Given the description of an element on the screen output the (x, y) to click on. 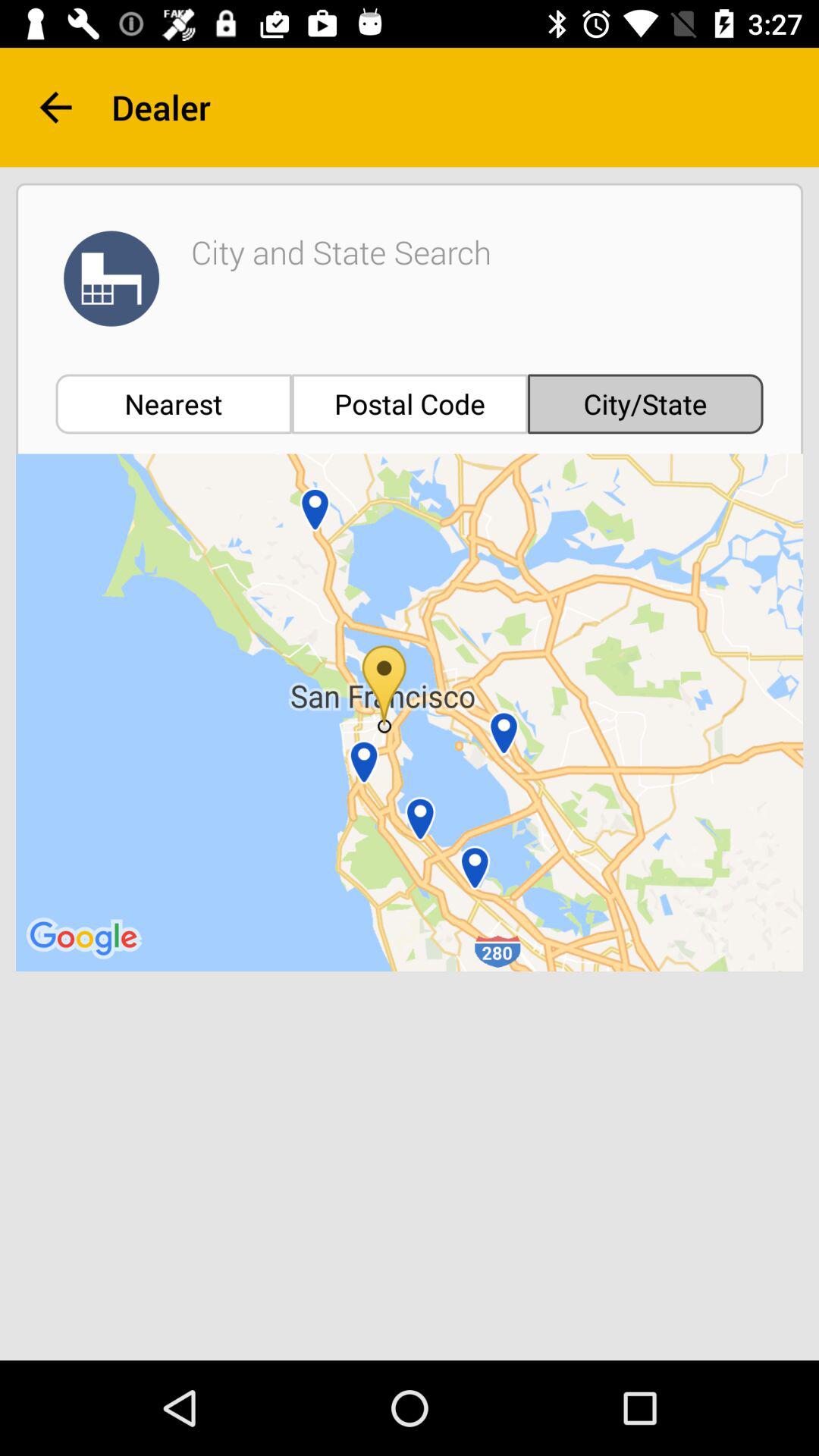
select item next to nearest item (409, 403)
